Given the description of an element on the screen output the (x, y) to click on. 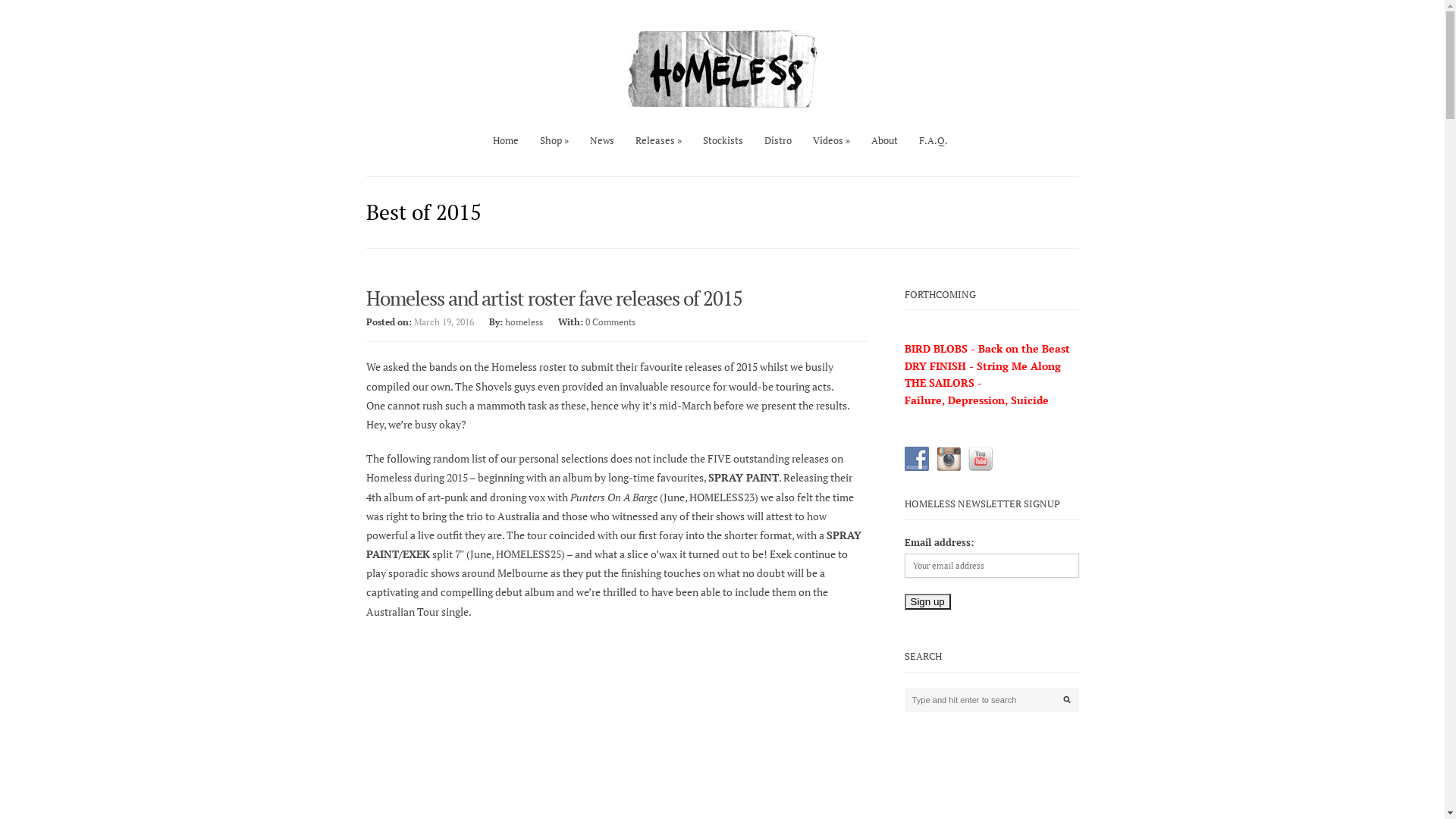
homeless Element type: text (523, 321)
Follow us on Instagram Element type: hover (947, 458)
News Element type: text (601, 140)
Homeless and artist roster fave releases of 2015 Element type: text (553, 297)
Follow us on YouTube Element type: hover (979, 458)
F.A.Q. Element type: text (933, 140)
0 Comments Element type: text (610, 321)
Distro Element type: text (777, 140)
About Element type: text (884, 140)
Home Element type: text (505, 140)
Follow us on Facebook Element type: hover (915, 458)
Stockists Element type: text (722, 140)
Sign up Element type: text (926, 601)
